Given the description of an element on the screen output the (x, y) to click on. 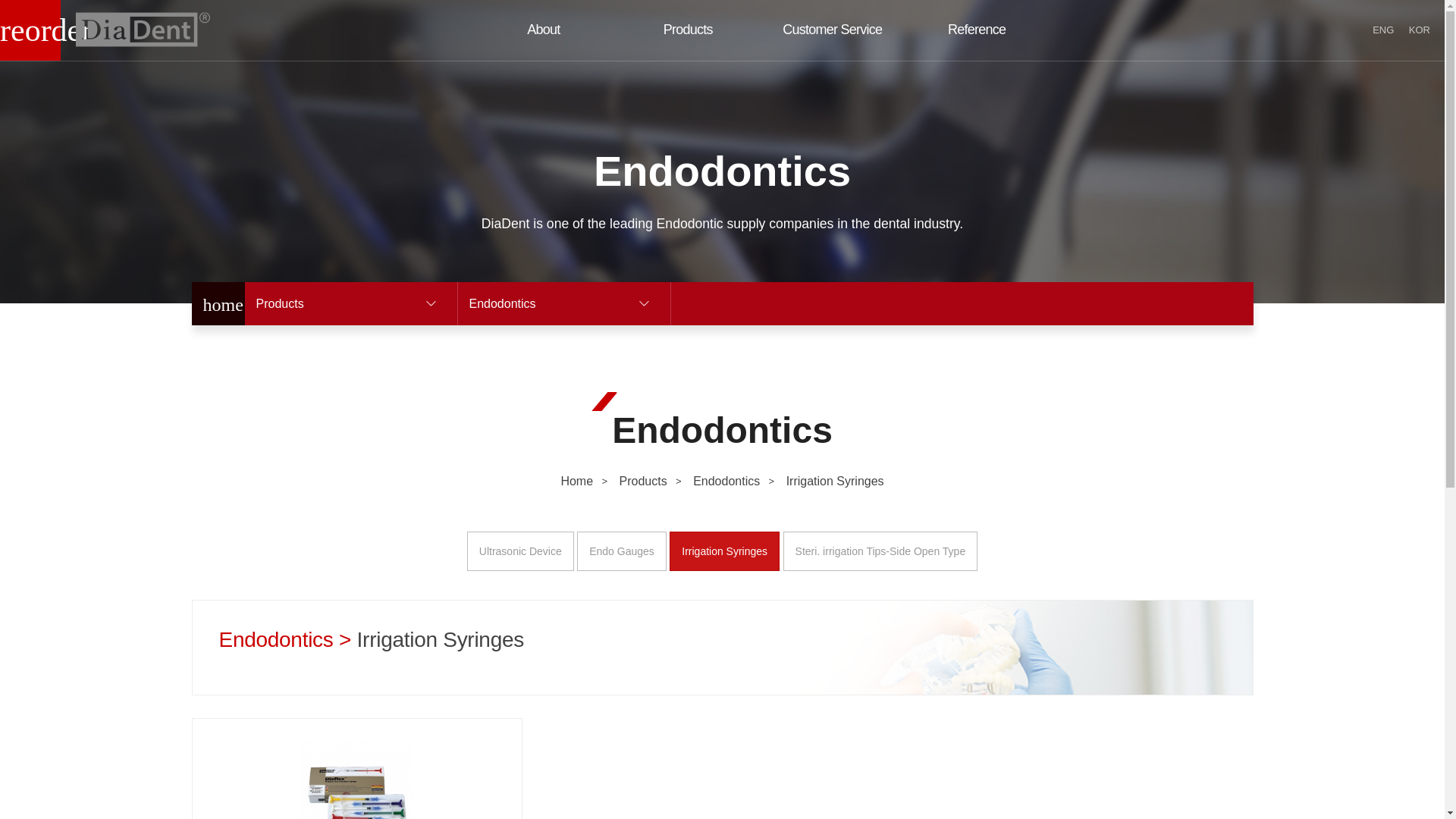
DIADENT (142, 29)
KOR (1419, 30)
Reference (976, 30)
About (543, 30)
ENG (1383, 30)
Customer Service (832, 30)
Products (687, 30)
reorder (30, 30)
